Given the description of an element on the screen output the (x, y) to click on. 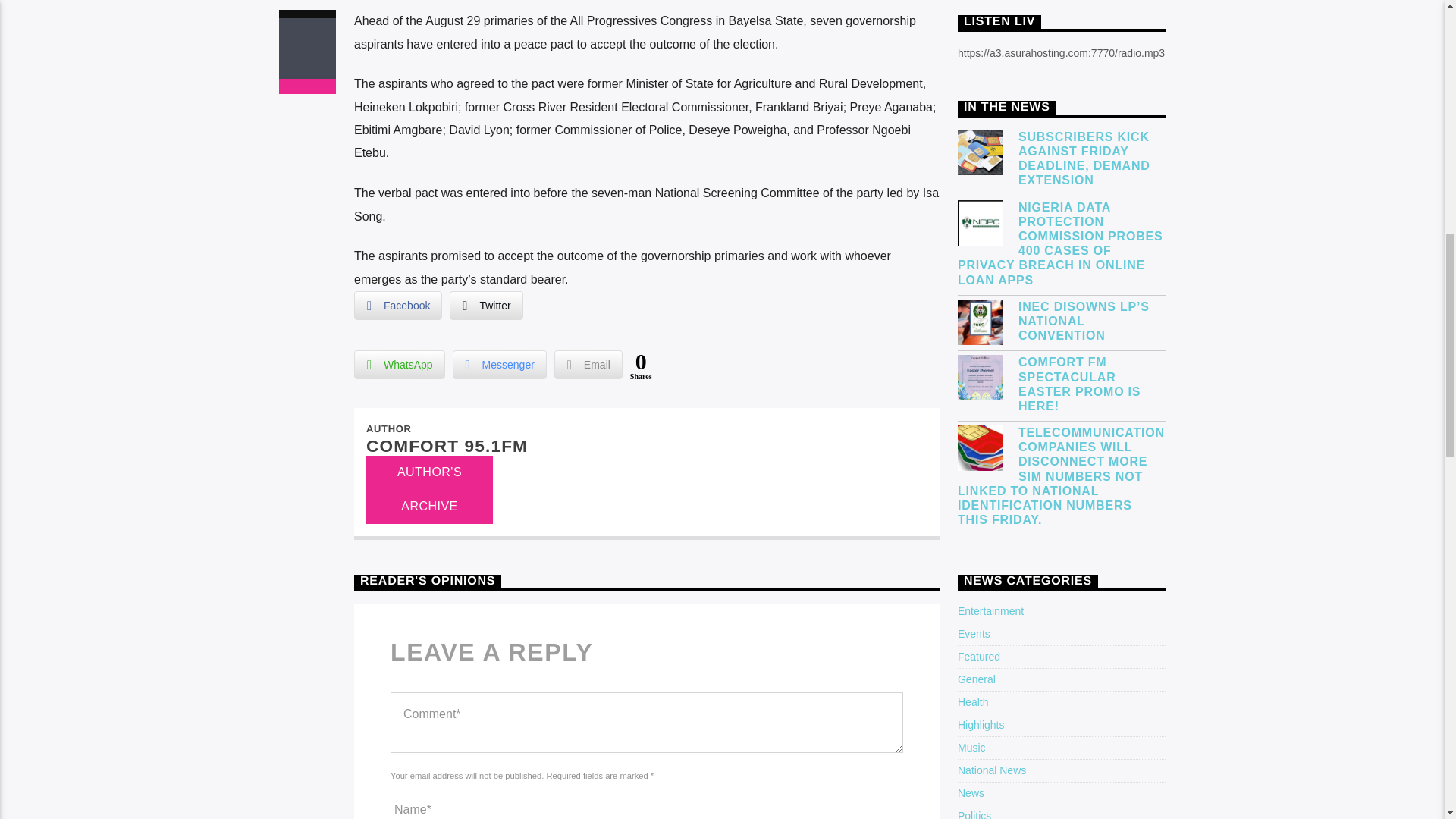
Twitter (485, 305)
Facebook (397, 305)
